Given the description of an element on the screen output the (x, y) to click on. 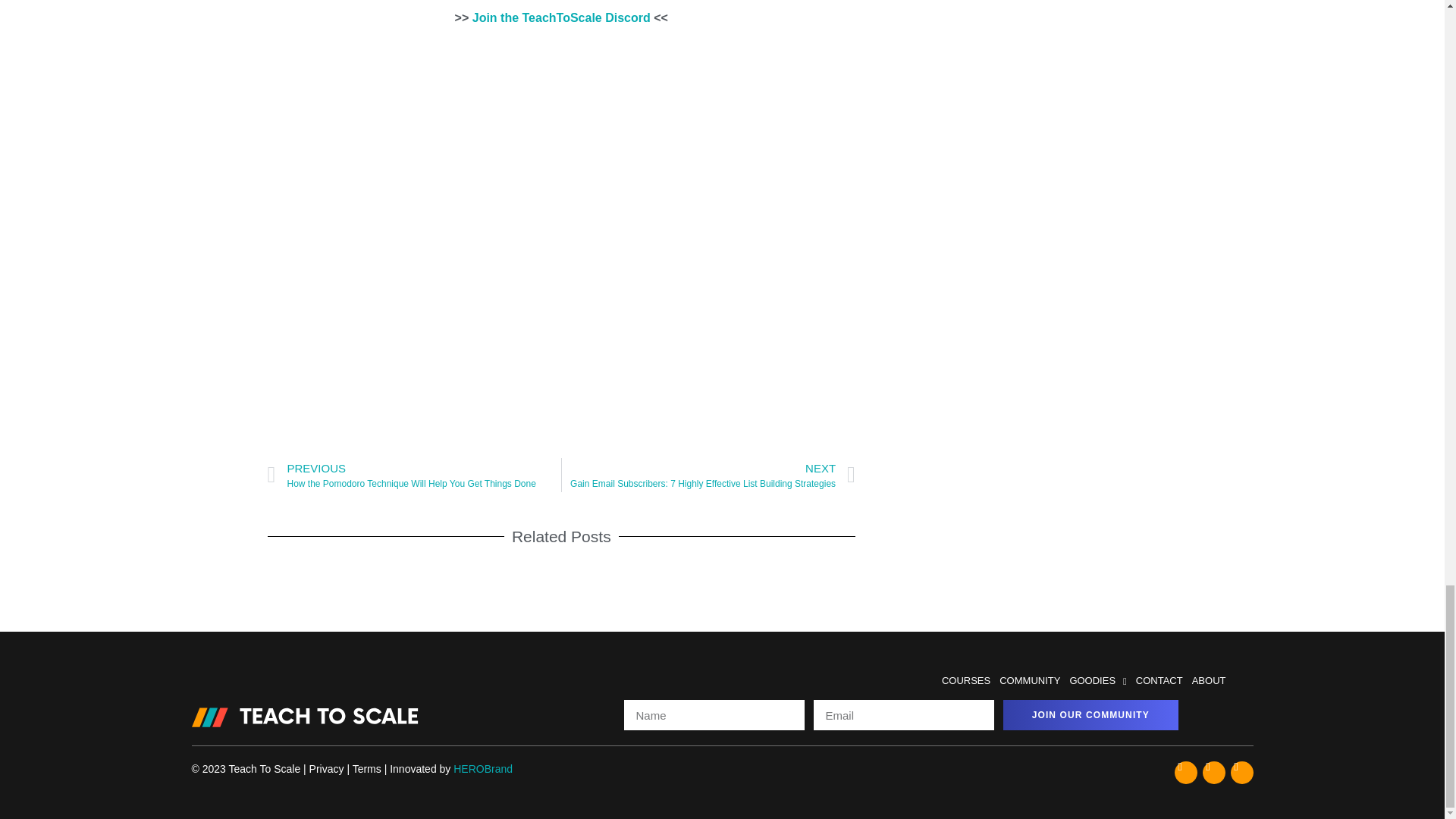
Join the TeachToScale Discord (560, 17)
